Given the description of an element on the screen output the (x, y) to click on. 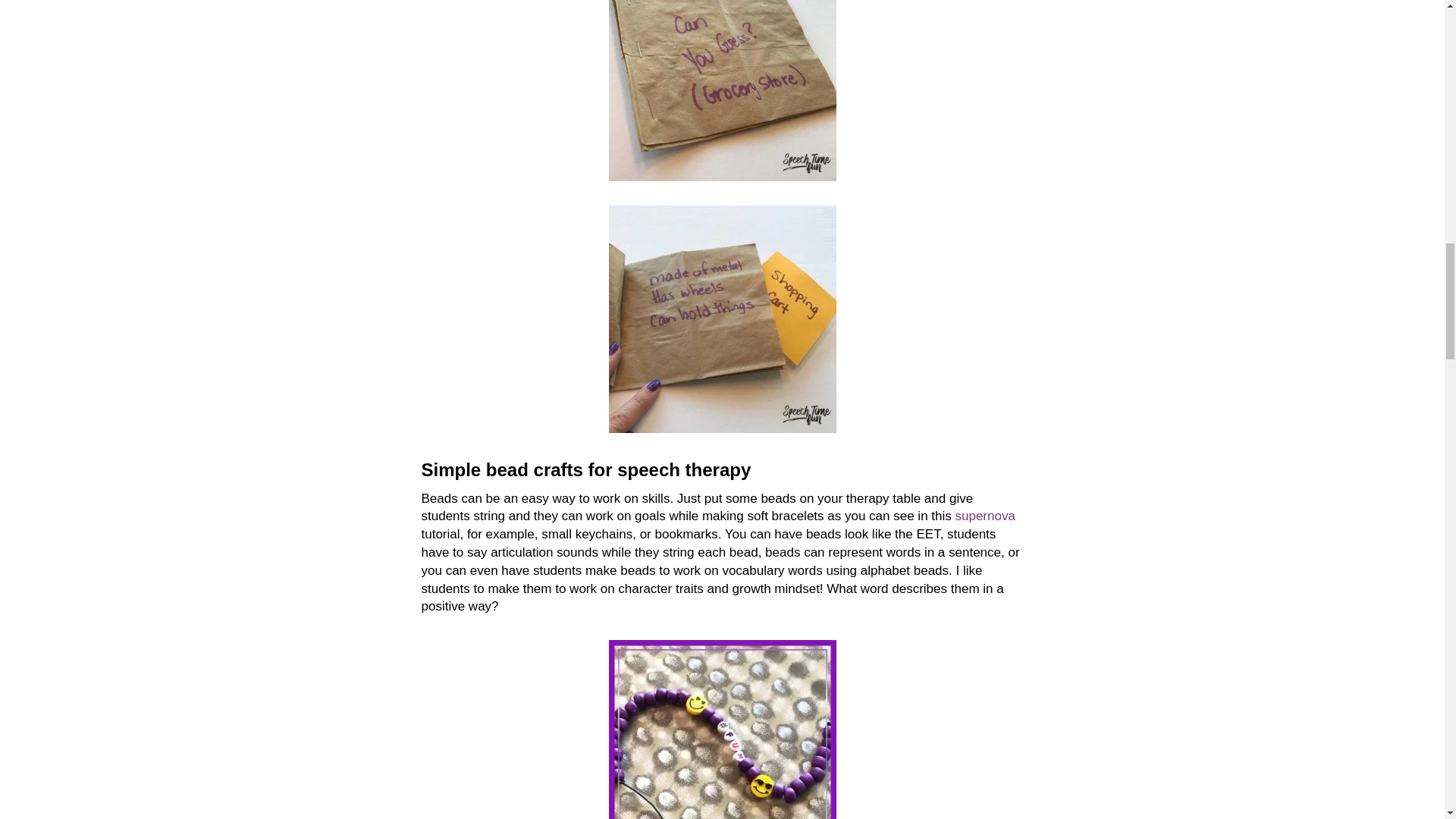
supernova (984, 515)
